Given the description of an element on the screen output the (x, y) to click on. 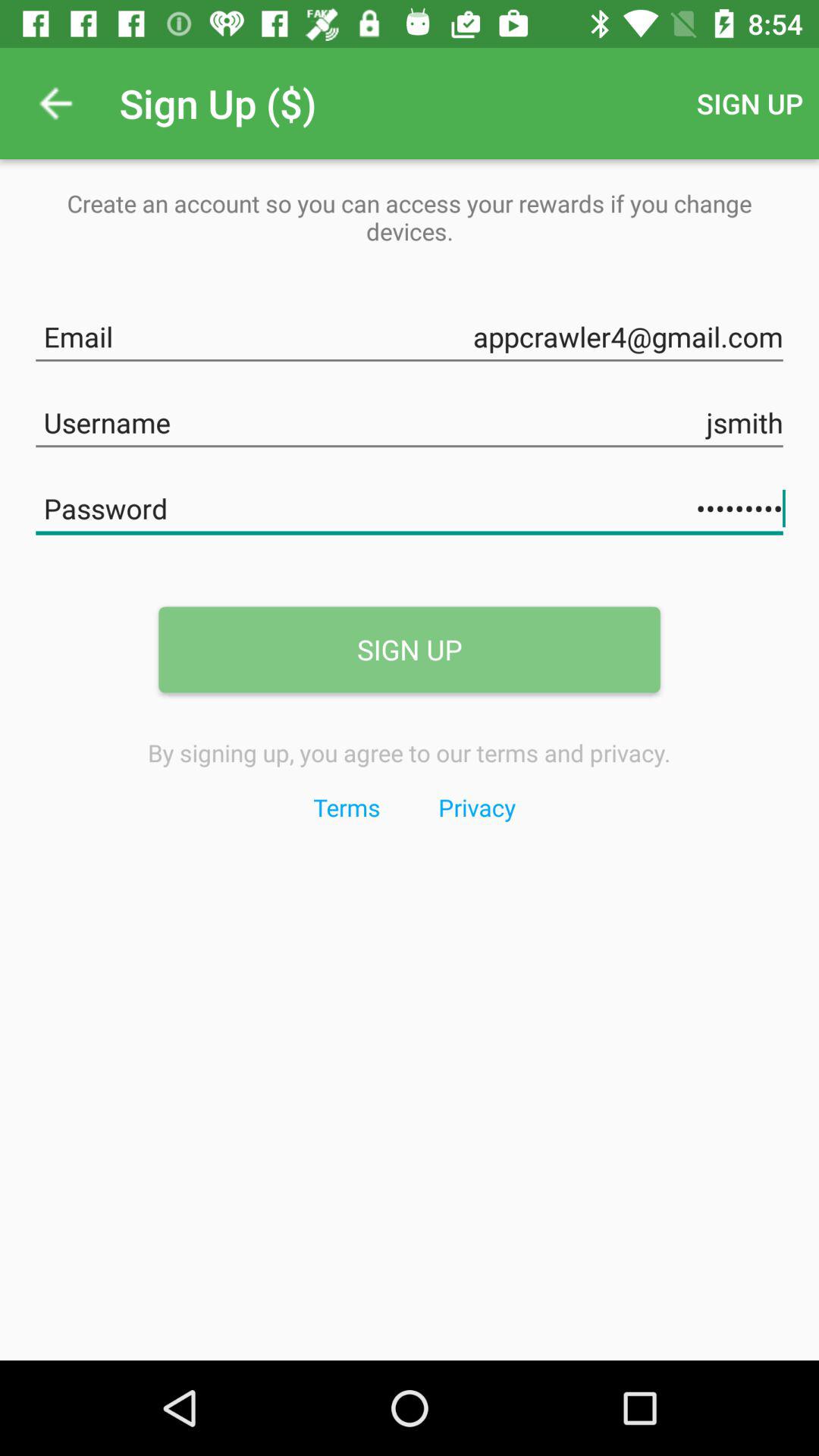
open item above the sign up item (409, 505)
